Given the description of an element on the screen output the (x, y) to click on. 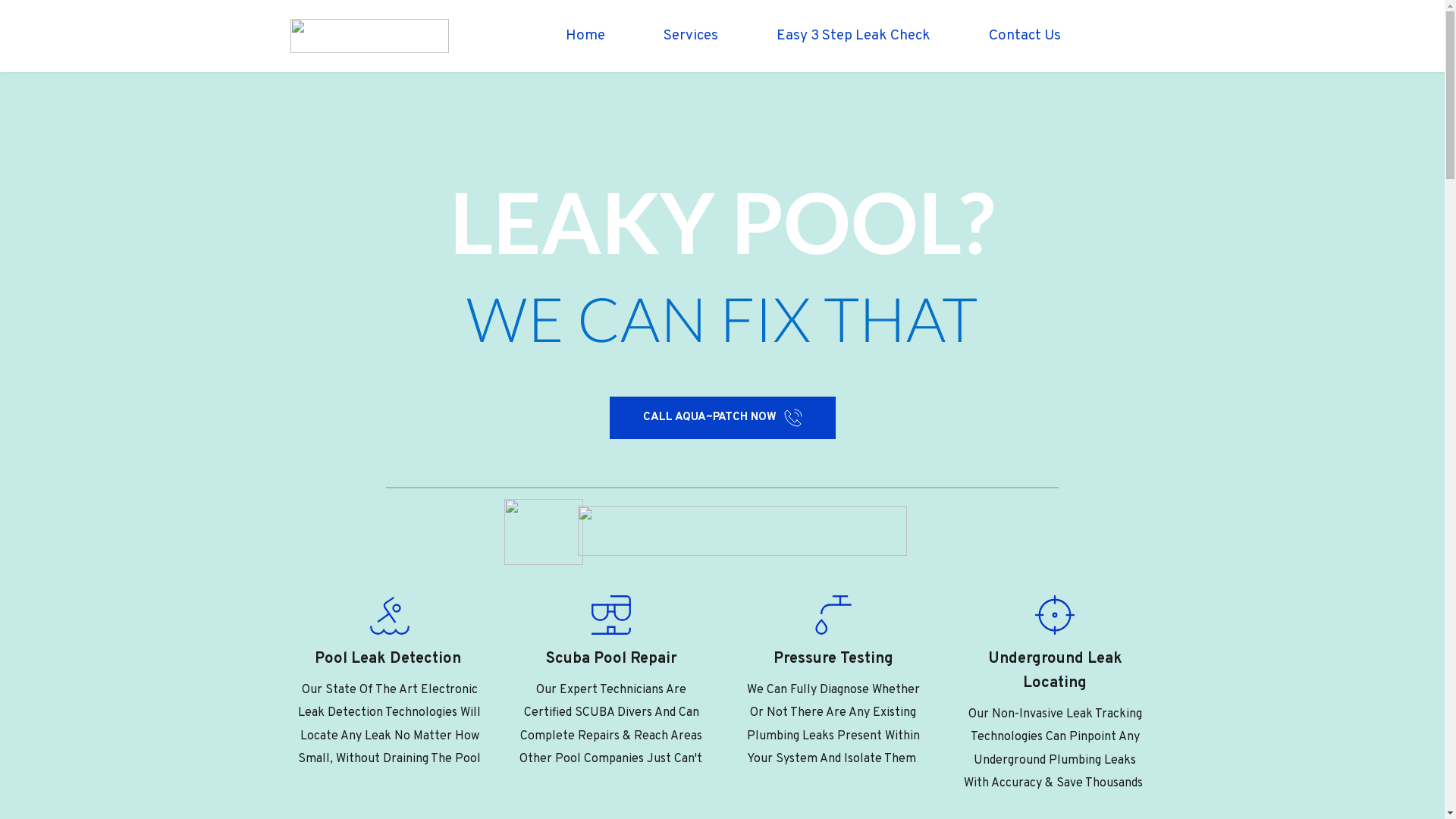
Contact Us Element type: text (1024, 35)
Services Element type: text (690, 35)
Home Element type: text (584, 35)
Easy 3 Step Leak Check Element type: text (853, 35)
CALL AQUA~PATCH NOW Element type: text (722, 417)
